Given the description of an element on the screen output the (x, y) to click on. 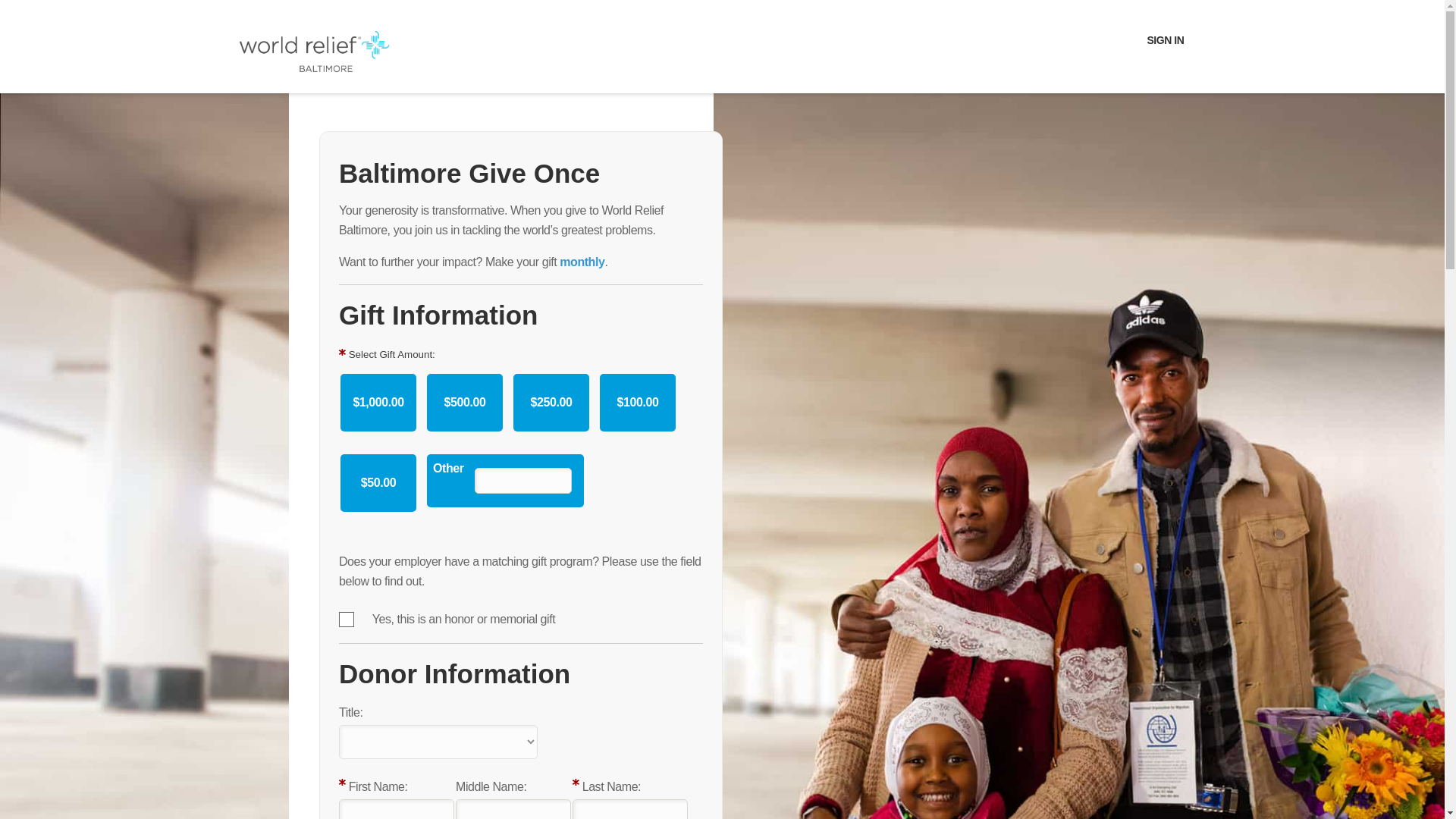
SIGN IN (1164, 40)
monthly (581, 261)
on (346, 619)
Cancel (25, 17)
